Given the description of an element on the screen output the (x, y) to click on. 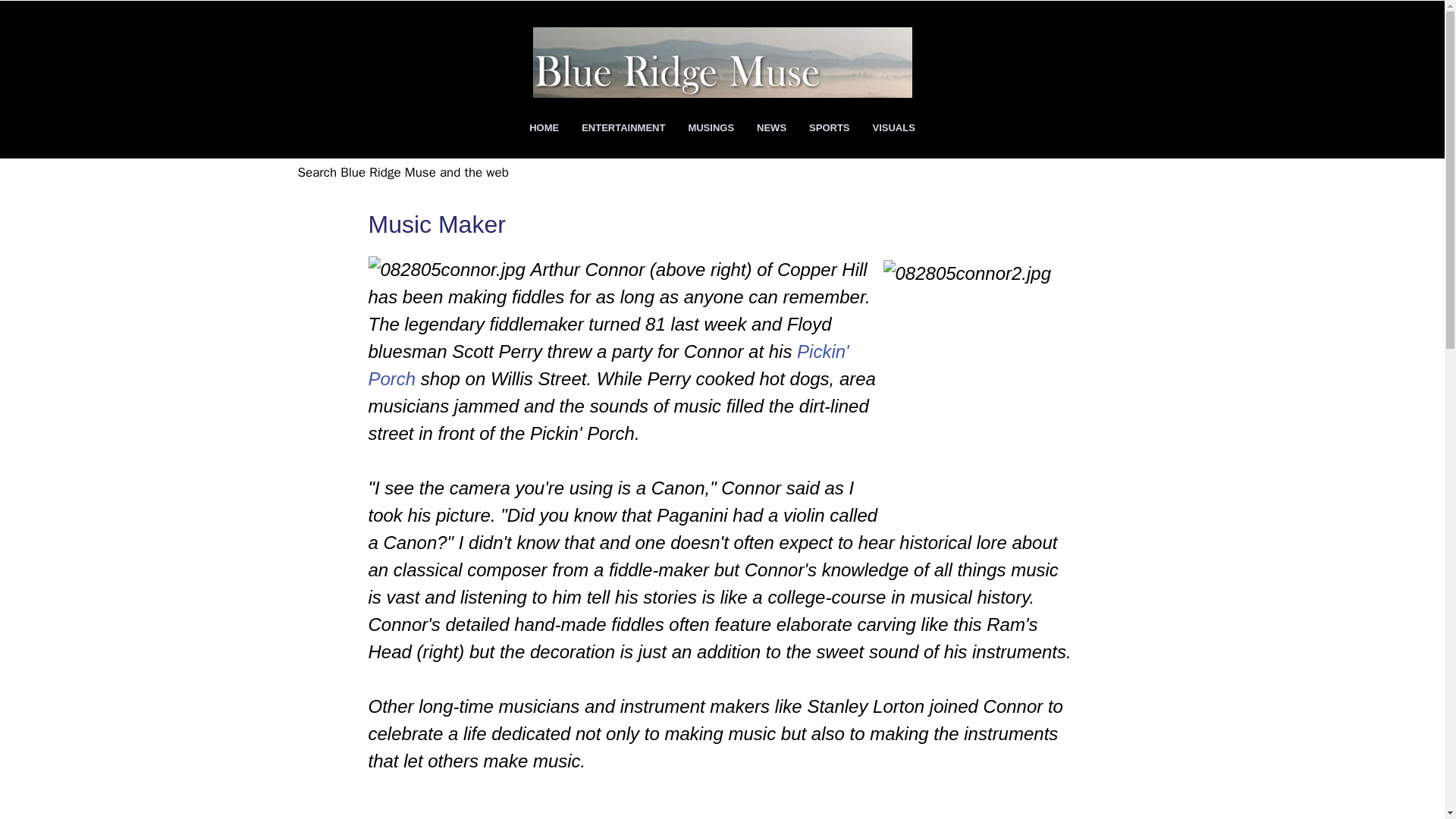
HOME (544, 127)
Pickin' Porch (608, 365)
VISUALS (893, 127)
SPORTS (828, 127)
MUSINGS (711, 127)
ENTERTAINMENT (623, 127)
NEWS (771, 127)
August 28, 2005 (423, 818)
